Given the description of an element on the screen output the (x, y) to click on. 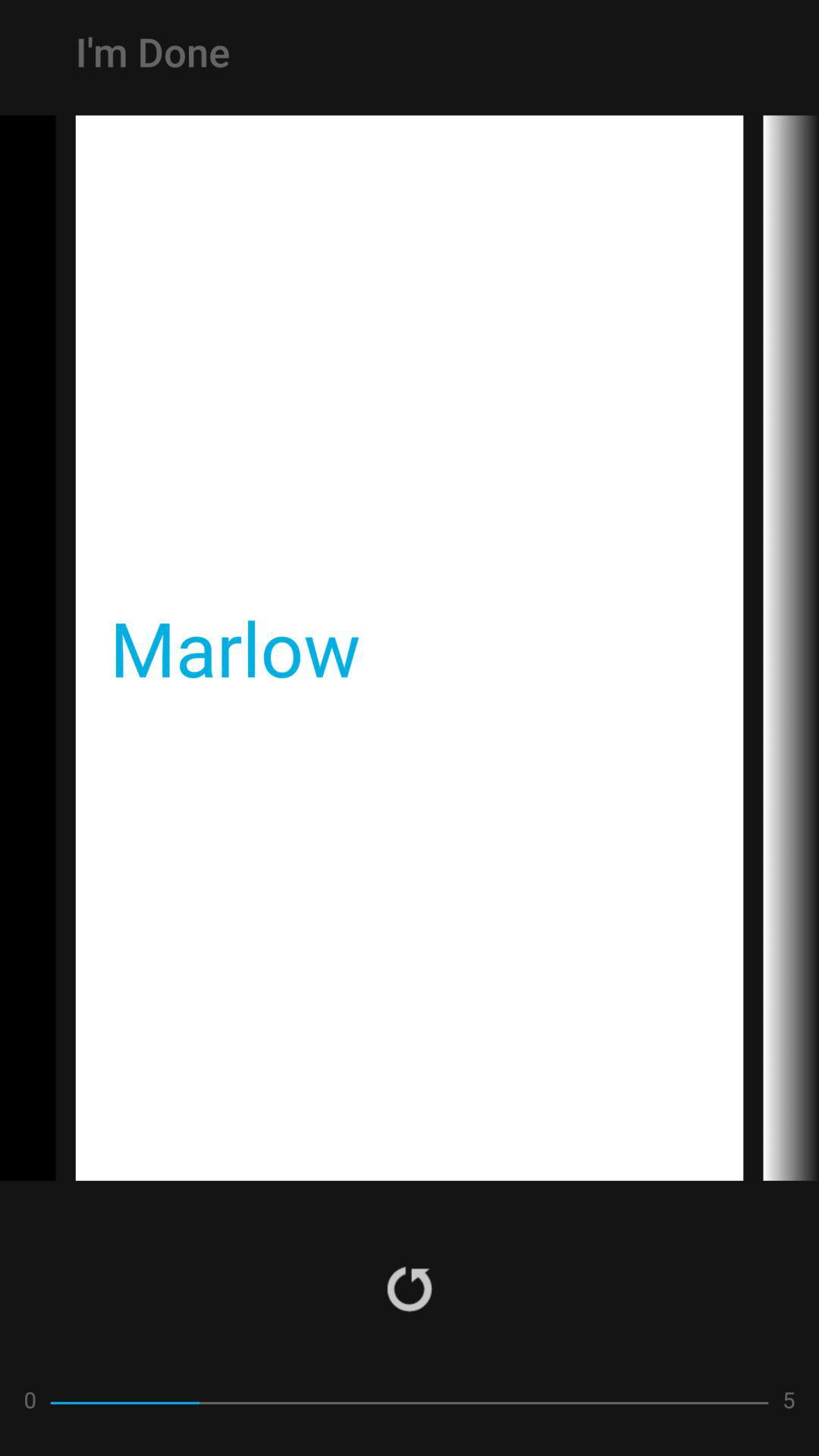
for rotate (409, 1288)
